Given the description of an element on the screen output the (x, y) to click on. 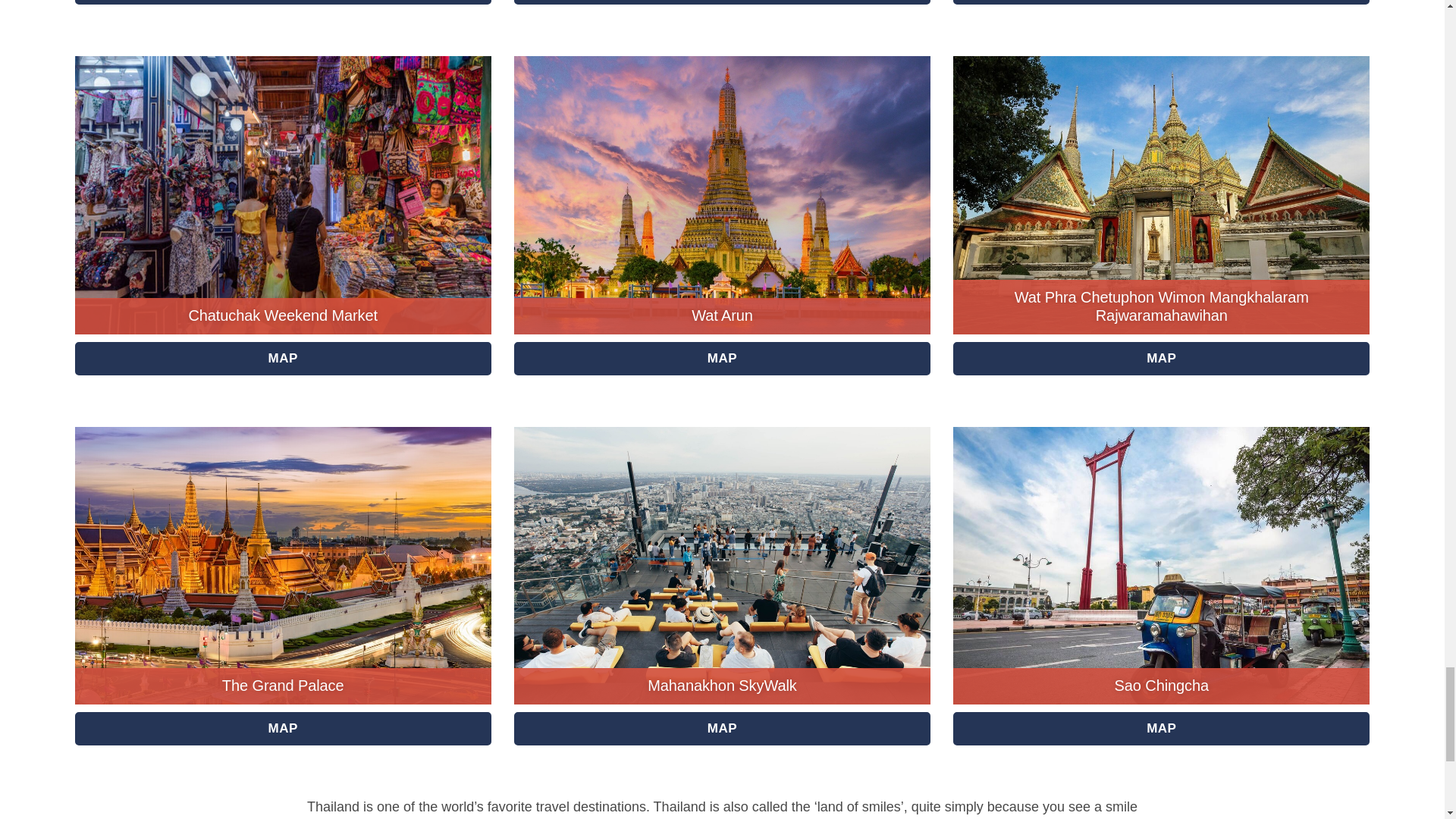
MAP (283, 358)
MAP (283, 2)
MAP (1161, 2)
Chatuchak Weekend Market (282, 315)
MAP (721, 2)
